Given the description of an element on the screen output the (x, y) to click on. 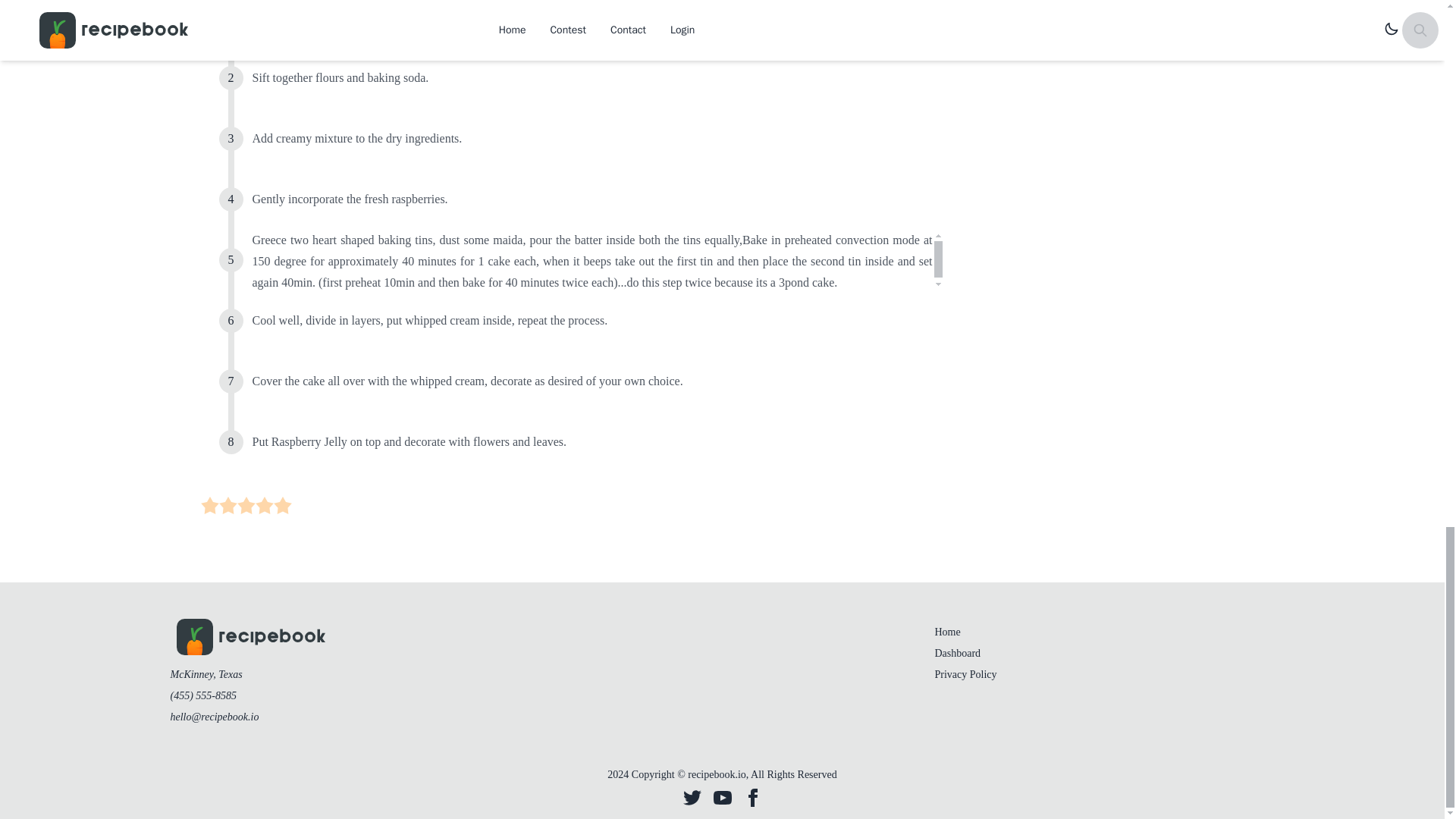
Home (946, 631)
on (263, 505)
on (226, 505)
on (244, 505)
on (209, 505)
Dashboard (956, 653)
Privacy Policy (964, 674)
